Given the description of an element on the screen output the (x, y) to click on. 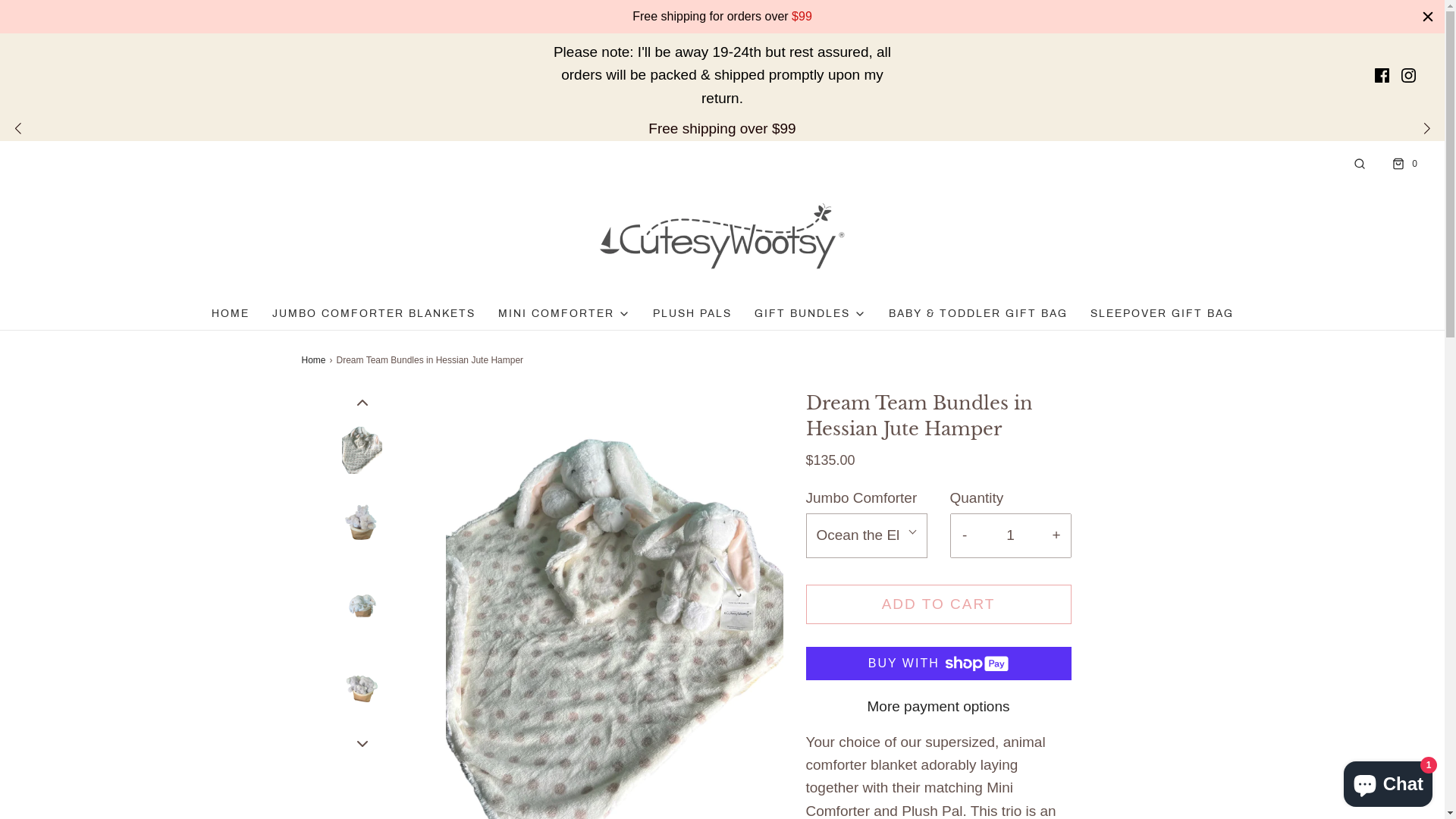
Home Element type: text (315, 360)
PLUSH PALS Element type: text (691, 313)
SLEEPOVER GIFT BAG Element type: text (1161, 313)
Ocean the Elephant Element type: text (865, 535)
Instagram icon Element type: text (1408, 75)
More payment options Element type: text (937, 706)
- Element type: text (964, 535)
HOME Element type: text (229, 313)
+ Element type: text (1055, 535)
Facebook icon Element type: text (1381, 75)
BABY & TODDLER GIFT BAG Element type: text (977, 313)
GIFT BUNDLES Element type: text (809, 313)
MINI COMFORTER Element type: text (563, 313)
JUMBO COMFORTER BLANKETS Element type: text (372, 313)
ADD TO CART Element type: text (937, 604)
0 Element type: text (1402, 164)
Search Element type: hover (1359, 164)
Shopify online store chat Element type: hover (1388, 780)
